Given the description of an element on the screen output the (x, y) to click on. 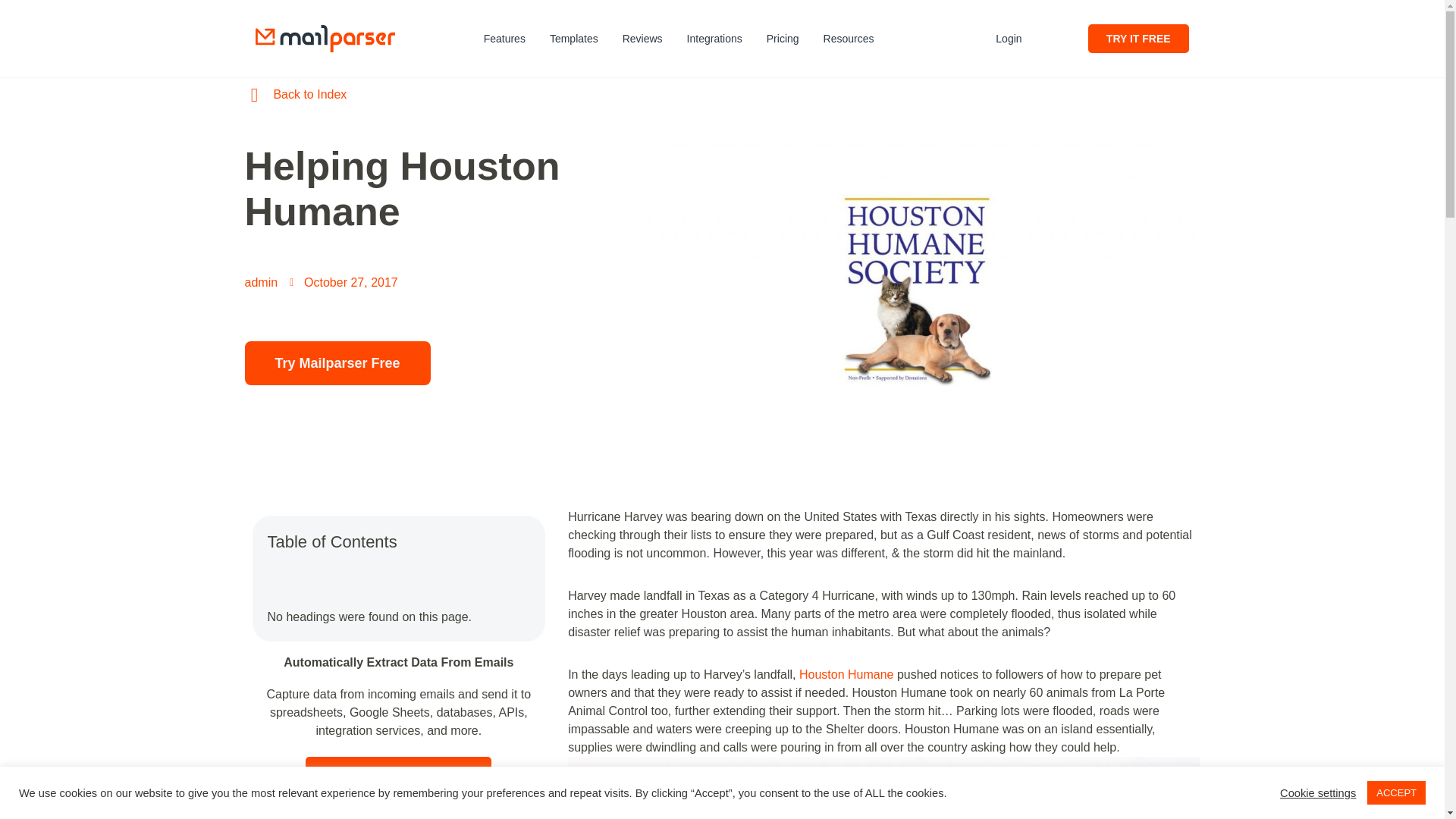
Templates (573, 38)
Reviews (642, 38)
TRY IT FREE (1138, 38)
Features (504, 38)
Pricing (782, 38)
Login (1008, 38)
Resources (851, 38)
Integrations (714, 38)
